Given the description of an element on the screen output the (x, y) to click on. 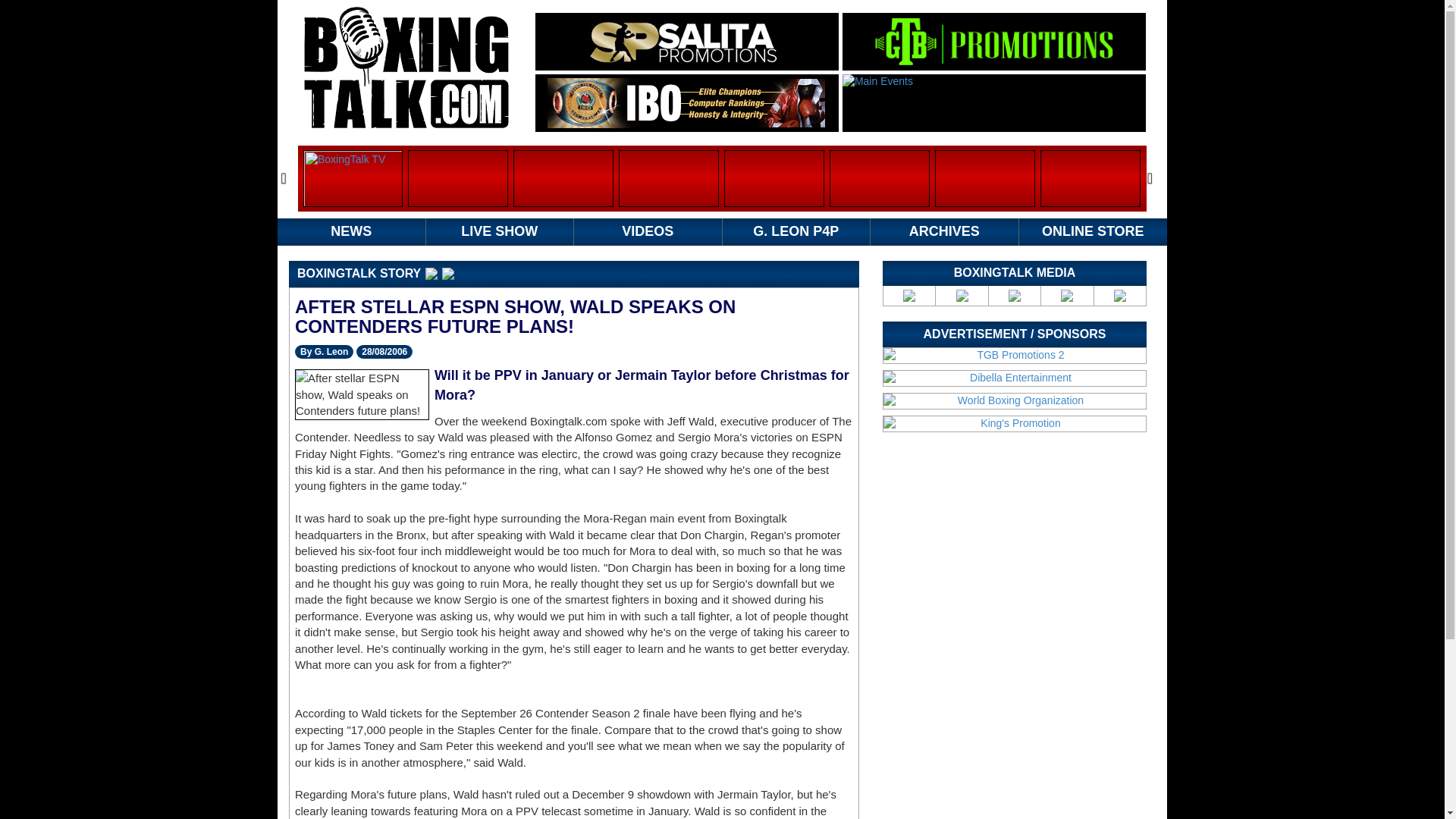
Main Events (994, 102)
TGB Promotions (993, 41)
BoxingTalk TV (352, 178)
TGB Promotions 2 (1014, 355)
Salita Promotions (686, 41)
Dibella Entertainment (1014, 378)
King's Promotion (1014, 423)
IBO Boxing (686, 102)
World Boxing Organization (1014, 400)
